Given the description of an element on the screen output the (x, y) to click on. 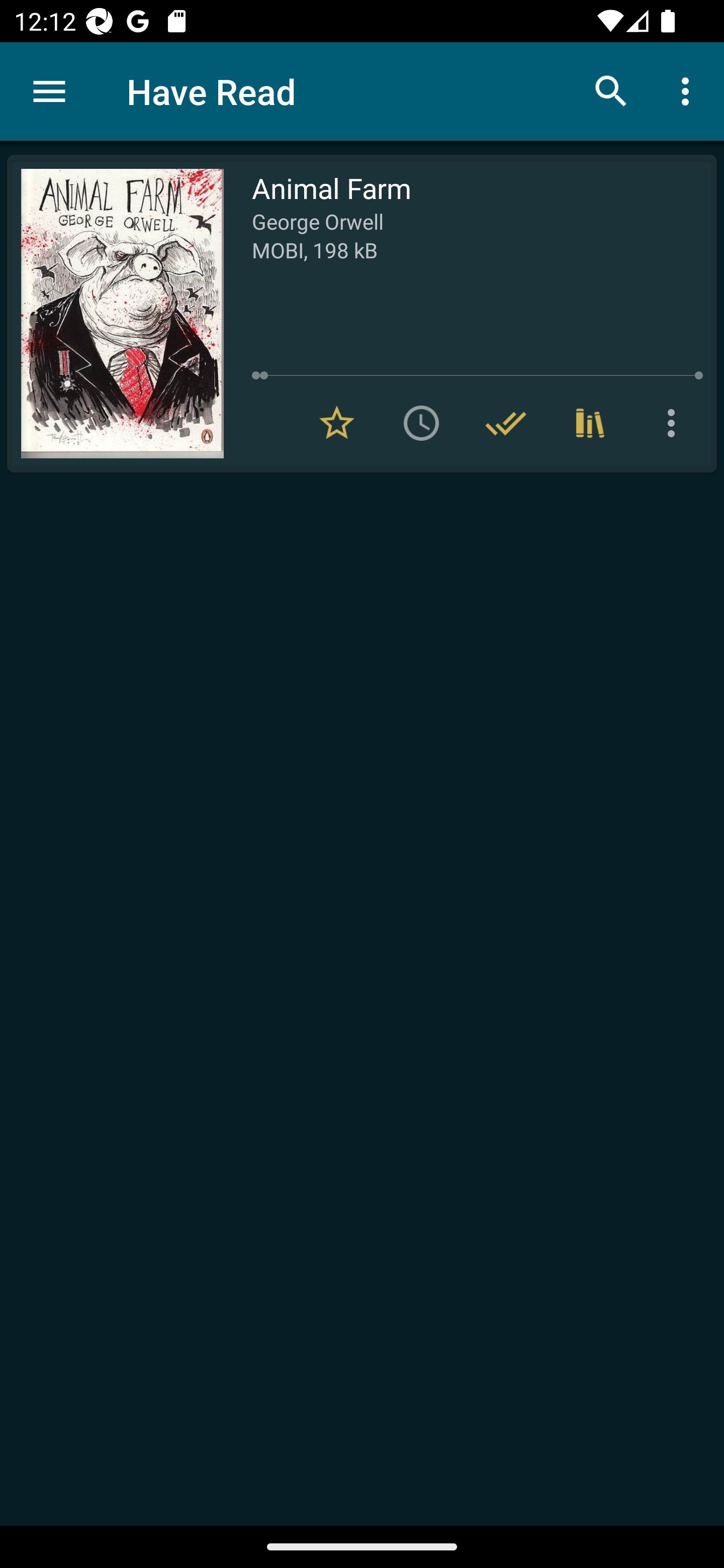
Menu (49, 91)
Search books & documents (611, 90)
More options (688, 90)
Read Animal Farm (115, 313)
Remove from Favorites (336, 423)
Add to To read (421, 423)
Remove from Have read (505, 423)
Collections (1) (590, 423)
More options (674, 423)
